Given the description of an element on the screen output the (x, y) to click on. 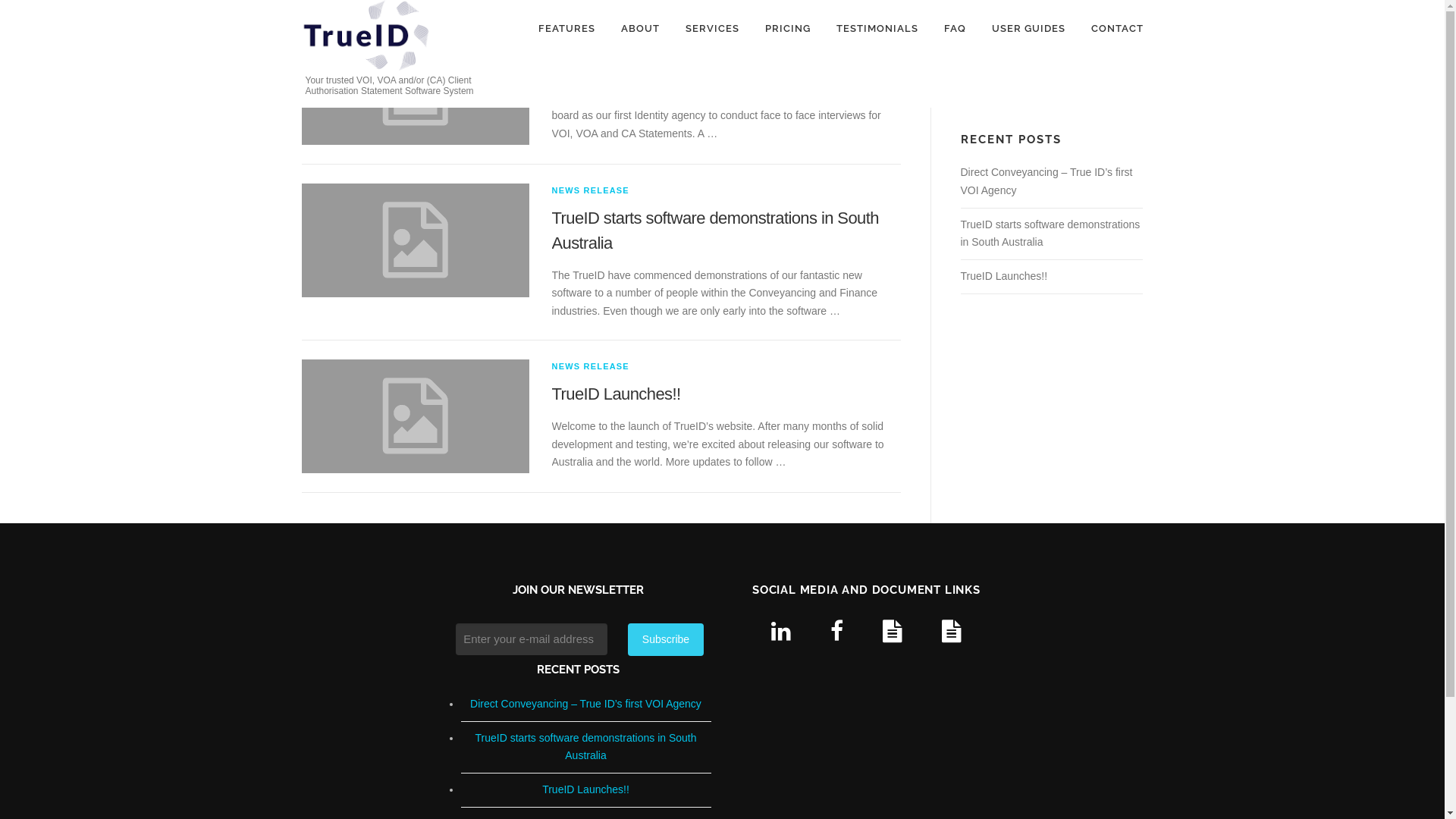
TrueID Software Licence Agreement Element type: hover (951, 630)
CONTACT Element type: text (1110, 28)
NEWS RELEASE Element type: text (590, 37)
TESTIMONIALS Element type: text (877, 28)
SERVICES Element type: text (711, 28)
TrueID starts software demonstrations in South Australia Element type: text (1049, 233)
Website Privacy Policy Element type: hover (892, 630)
USER GUIDES Element type: text (1027, 28)
FEATURES Element type: text (565, 28)
ABOUT Element type: text (640, 28)
TrueID Launches!! Element type: text (585, 789)
Subscribe Element type: text (665, 639)
PRICING Element type: text (787, 28)
TrueID Launches!! Element type: text (1003, 275)
Facebook Element type: hover (836, 630)
NEWS RELEASE Element type: text (590, 365)
TrueID starts software demonstrations in South Australia Element type: text (585, 746)
TrueID Launches!! Element type: text (616, 393)
NEWS RELEASE Element type: text (590, 189)
LinkedIn Element type: hover (780, 630)
FAQ Element type: text (955, 28)
TrueID starts software demonstrations in South Australia Element type: text (715, 230)
Search Element type: text (1044, 86)
